Given the description of an element on the screen output the (x, y) to click on. 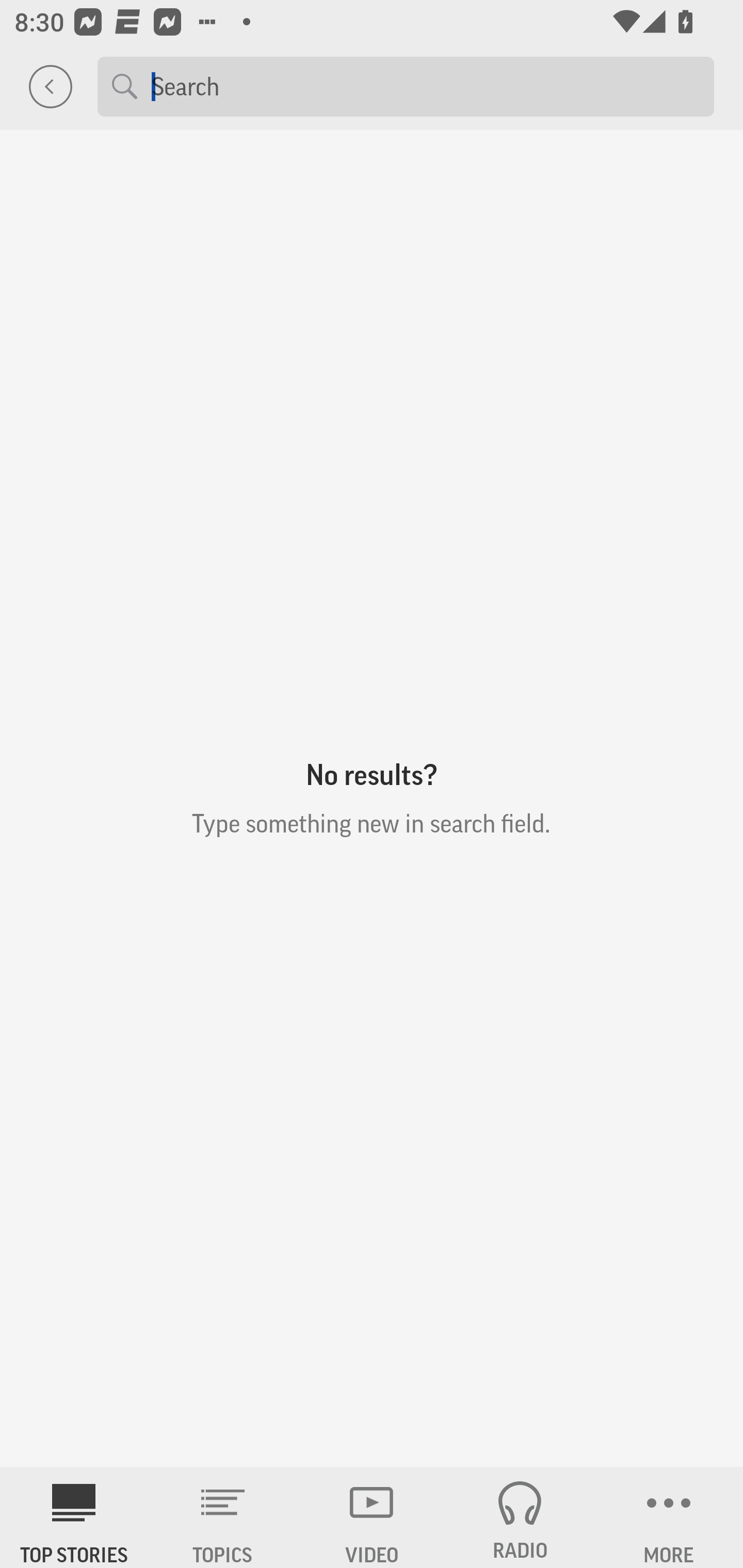
Search (425, 86)
AP News TOP STORIES (74, 1517)
TOPICS (222, 1517)
VIDEO (371, 1517)
RADIO (519, 1517)
MORE (668, 1517)
